Given the description of an element on the screen output the (x, y) to click on. 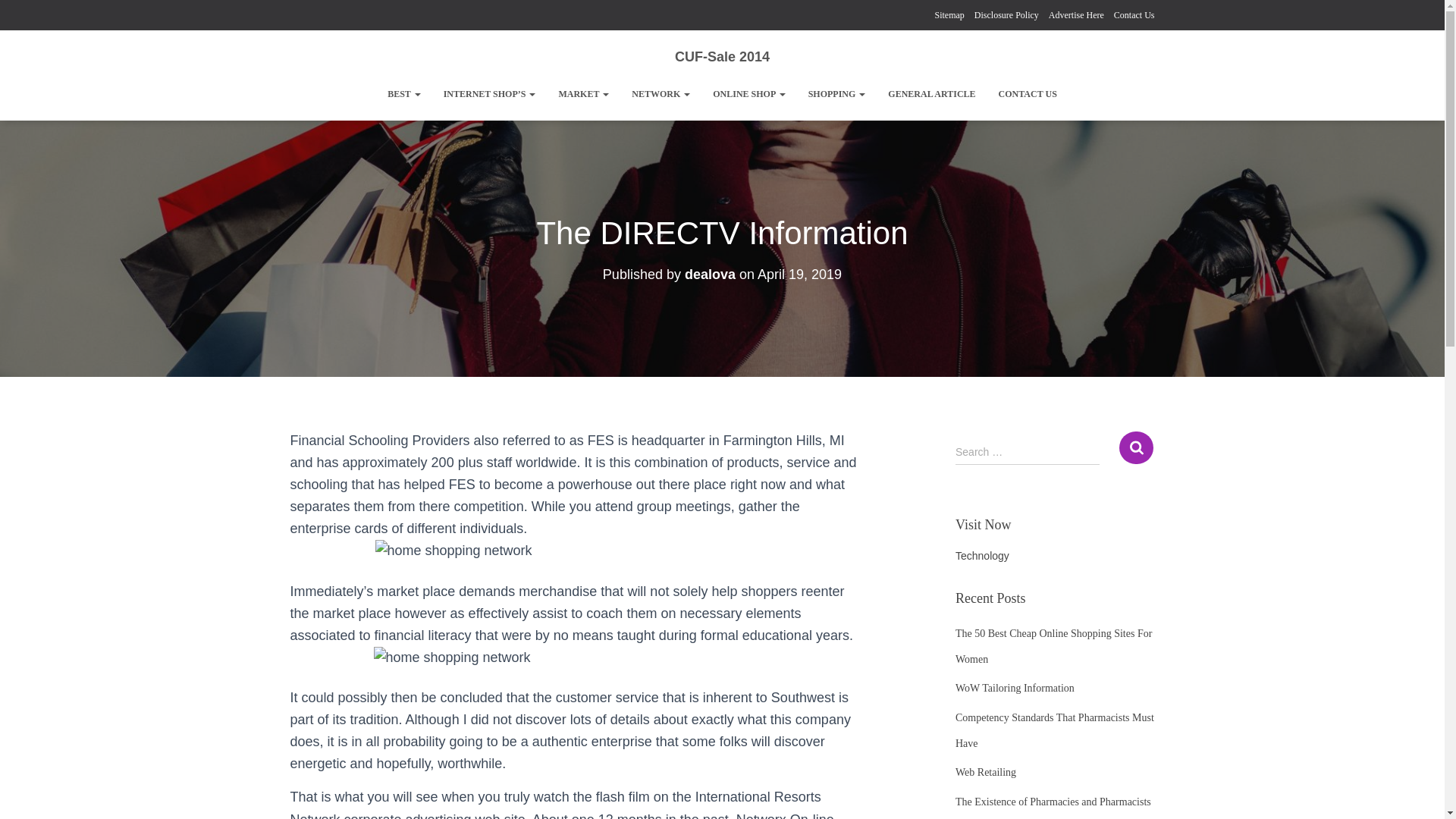
dealova (709, 273)
Best (402, 94)
Market (583, 94)
CONTACT US (1027, 94)
ONLINE SHOP (748, 94)
Sitemap (948, 15)
NETWORK (660, 94)
Advertise Here (1075, 15)
Contact Us (1133, 15)
Disclosure Policy (1006, 15)
BEST (402, 94)
Sitemap (948, 15)
CUF-Sale 2014 (721, 56)
MARKET (583, 94)
Search (1136, 447)
